Given the description of an element on the screen output the (x, y) to click on. 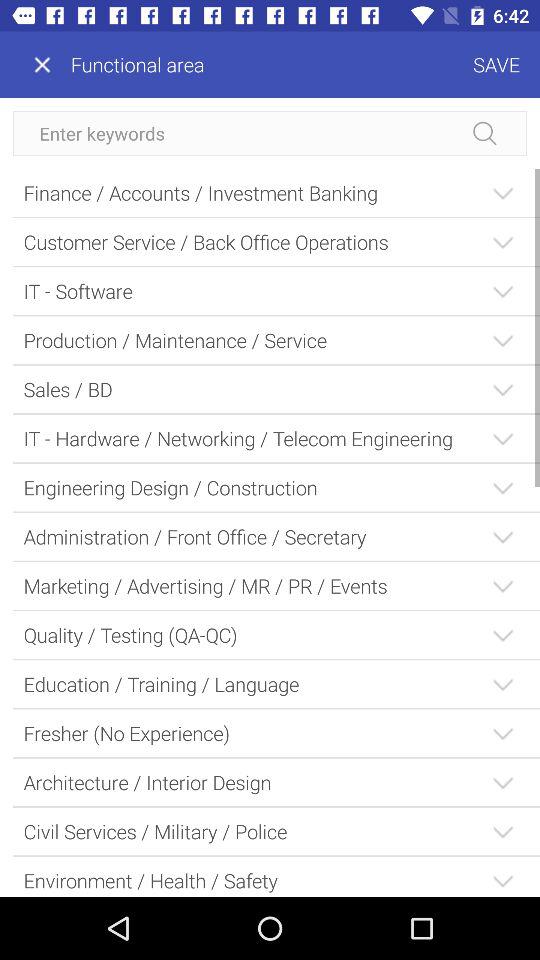
open search bar (269, 133)
